Given the description of an element on the screen output the (x, y) to click on. 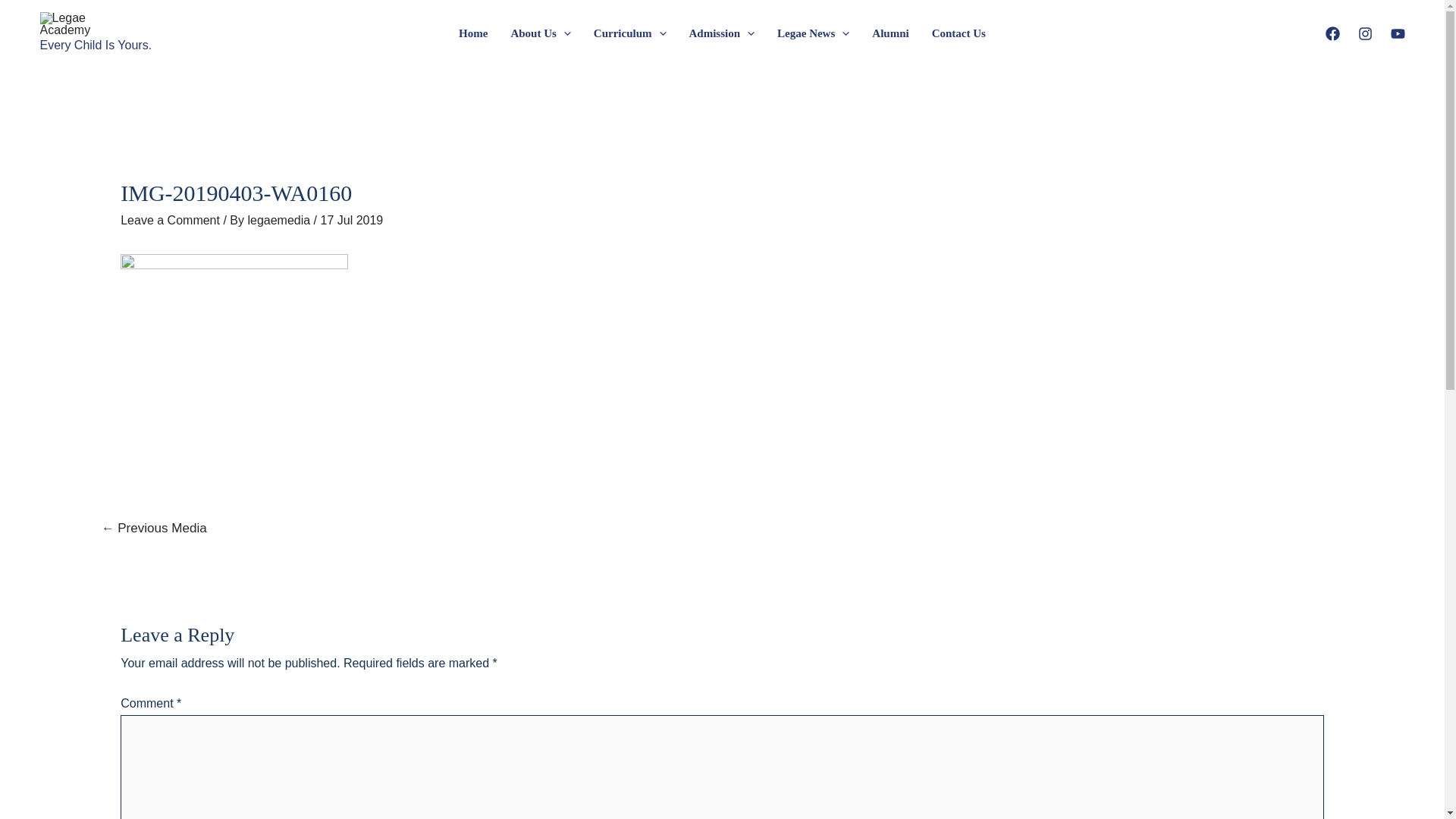
Contact Us Element type: text (958, 32)
Home Element type: text (472, 32)
Alumni Element type: text (889, 32)
Curriculum Element type: text (629, 32)
legaemedia Element type: text (280, 219)
Leave a Comment Element type: text (169, 219)
About Us Element type: text (539, 32)
Admission Element type: text (721, 32)
Legae News Element type: text (812, 32)
